Given the description of an element on the screen output the (x, y) to click on. 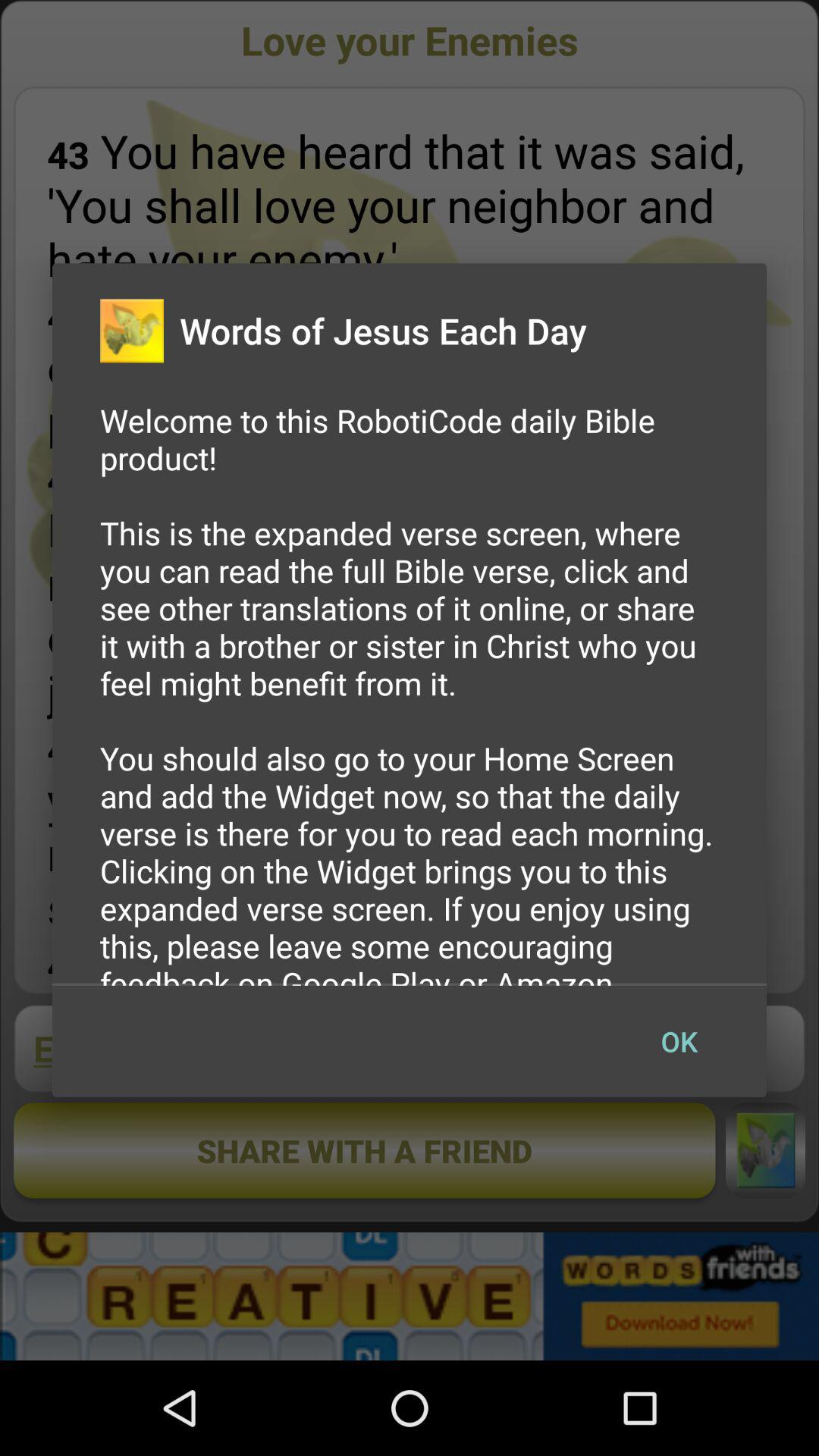
launch ok item (678, 1041)
